Given the description of an element on the screen output the (x, y) to click on. 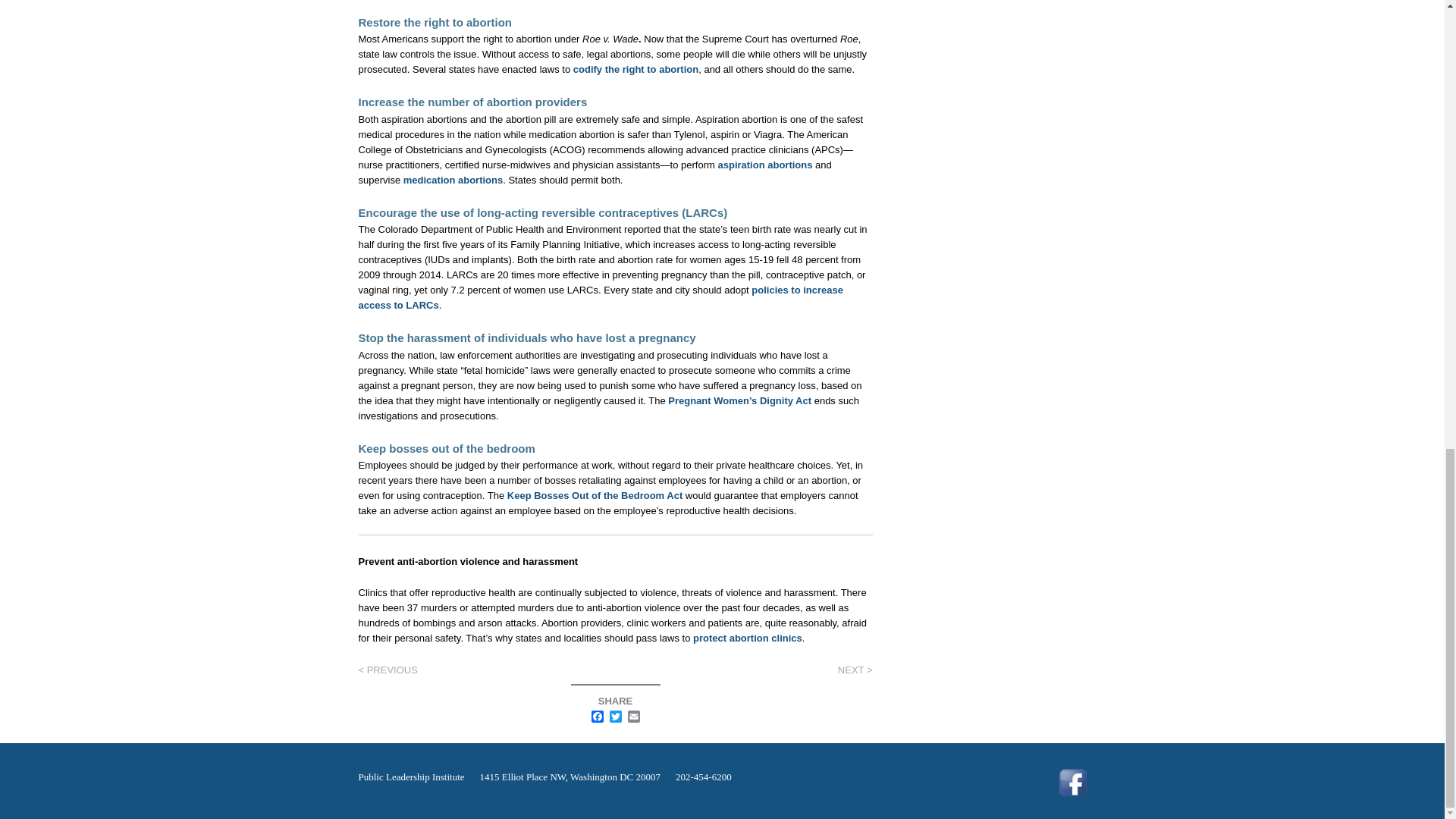
Social Services Policy (855, 669)
medication abortions (452, 179)
Twitter (615, 717)
codify the right to abortion (635, 69)
Email (633, 717)
Facebook (597, 717)
policies to increase access to LARCs (600, 297)
aspiration abortions (764, 164)
Public Safety Policy (387, 669)
